Given the description of an element on the screen output the (x, y) to click on. 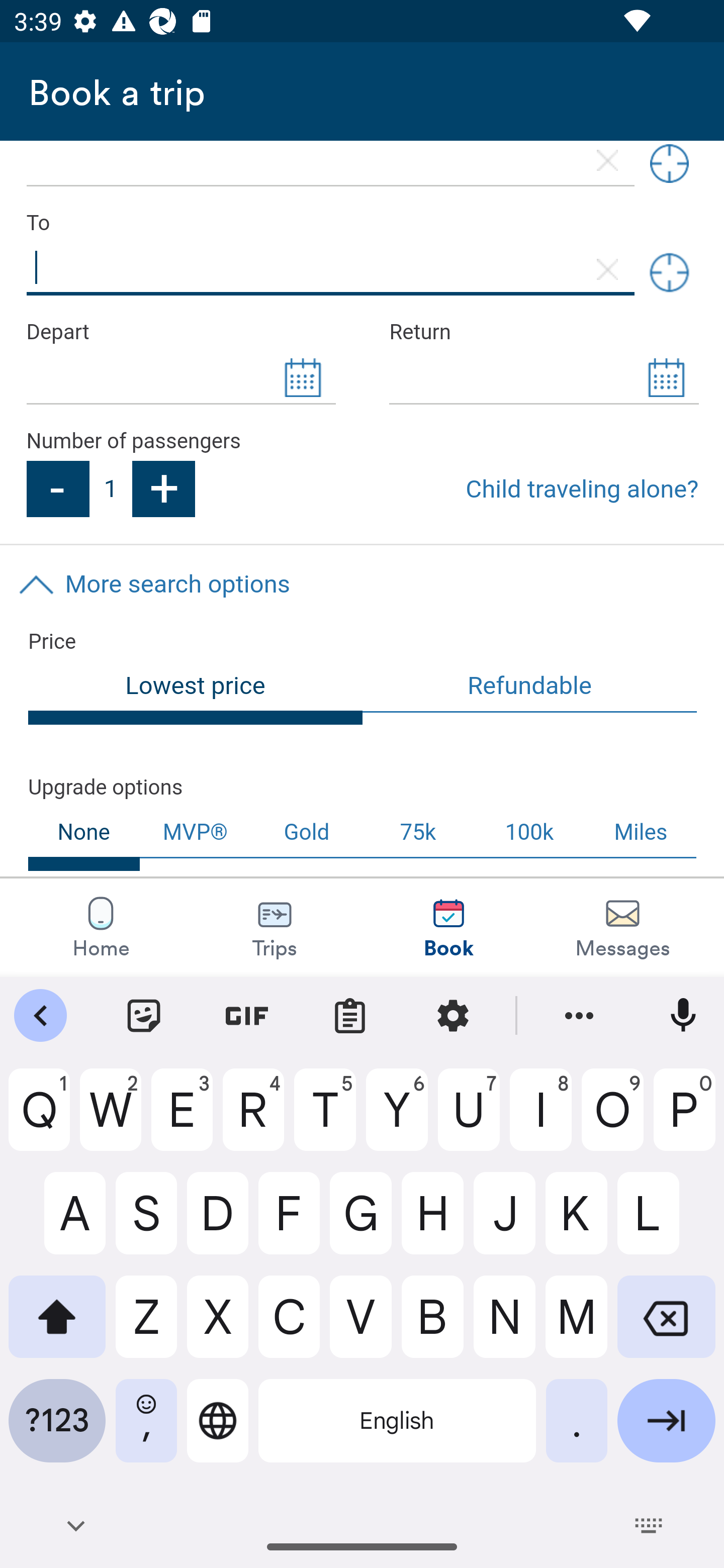
Geolocation (669, 166)
Geolocation (669, 272)
Depart (179, 331)
Return (544, 331)
- (56, 488)
+ (163, 488)
Child traveling alone? (582, 489)
More search options (362, 584)
Lowest price (196, 693)
Refundable (530, 687)
None (84, 838)
MVP® (195, 832)
Gold (306, 832)
75k (417, 832)
100k (528, 832)
Miles (641, 832)
Home (100, 927)
Trips (275, 927)
Book (448, 927)
Messages (622, 927)
